Given the description of an element on the screen output the (x, y) to click on. 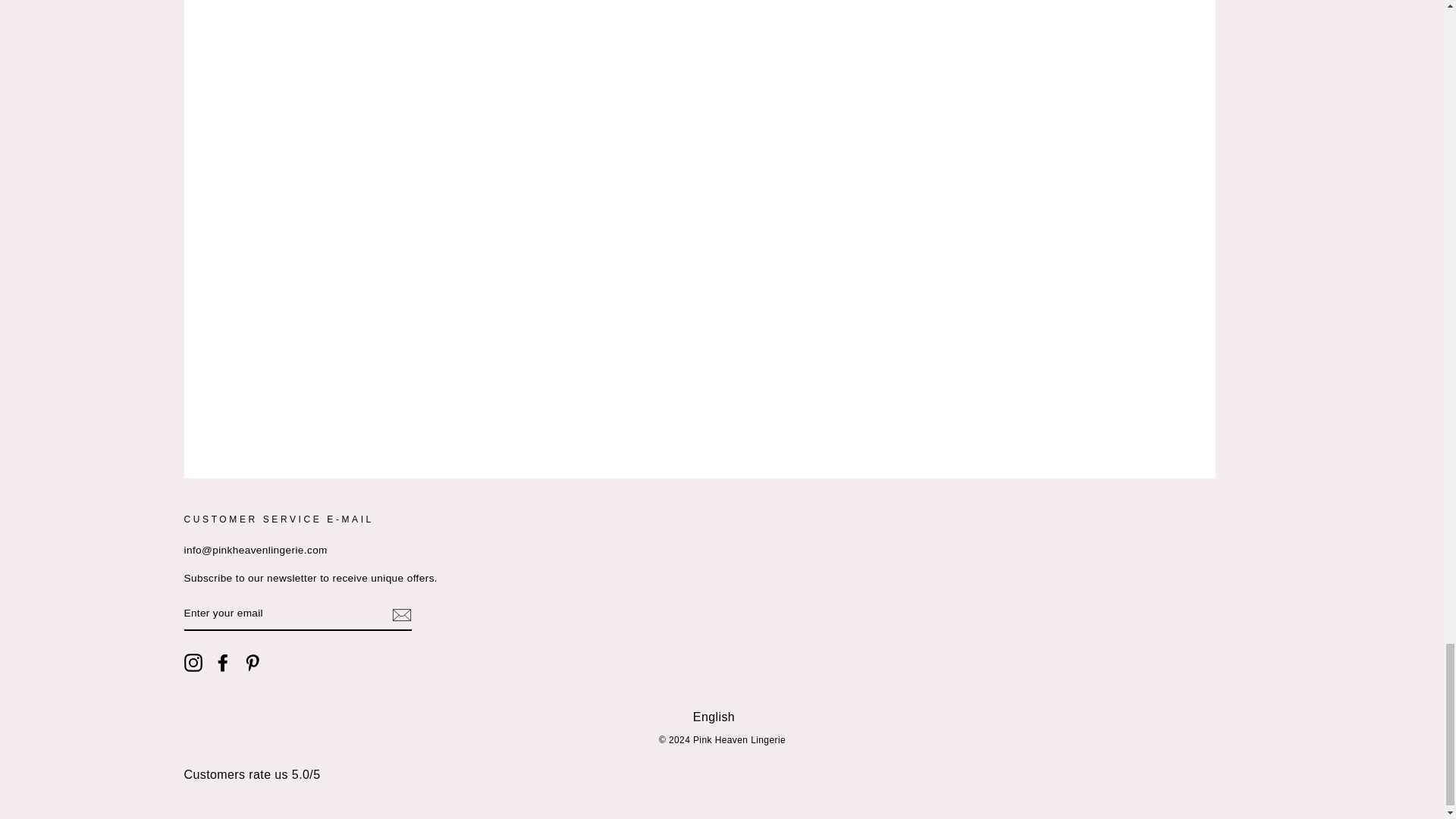
Pink Heaven Lingerie on Instagram (192, 662)
Pink Heaven Lingerie on Pinterest (251, 662)
Pink Heaven Lingerie on Facebook (222, 662)
